Given the description of an element on the screen output the (x, y) to click on. 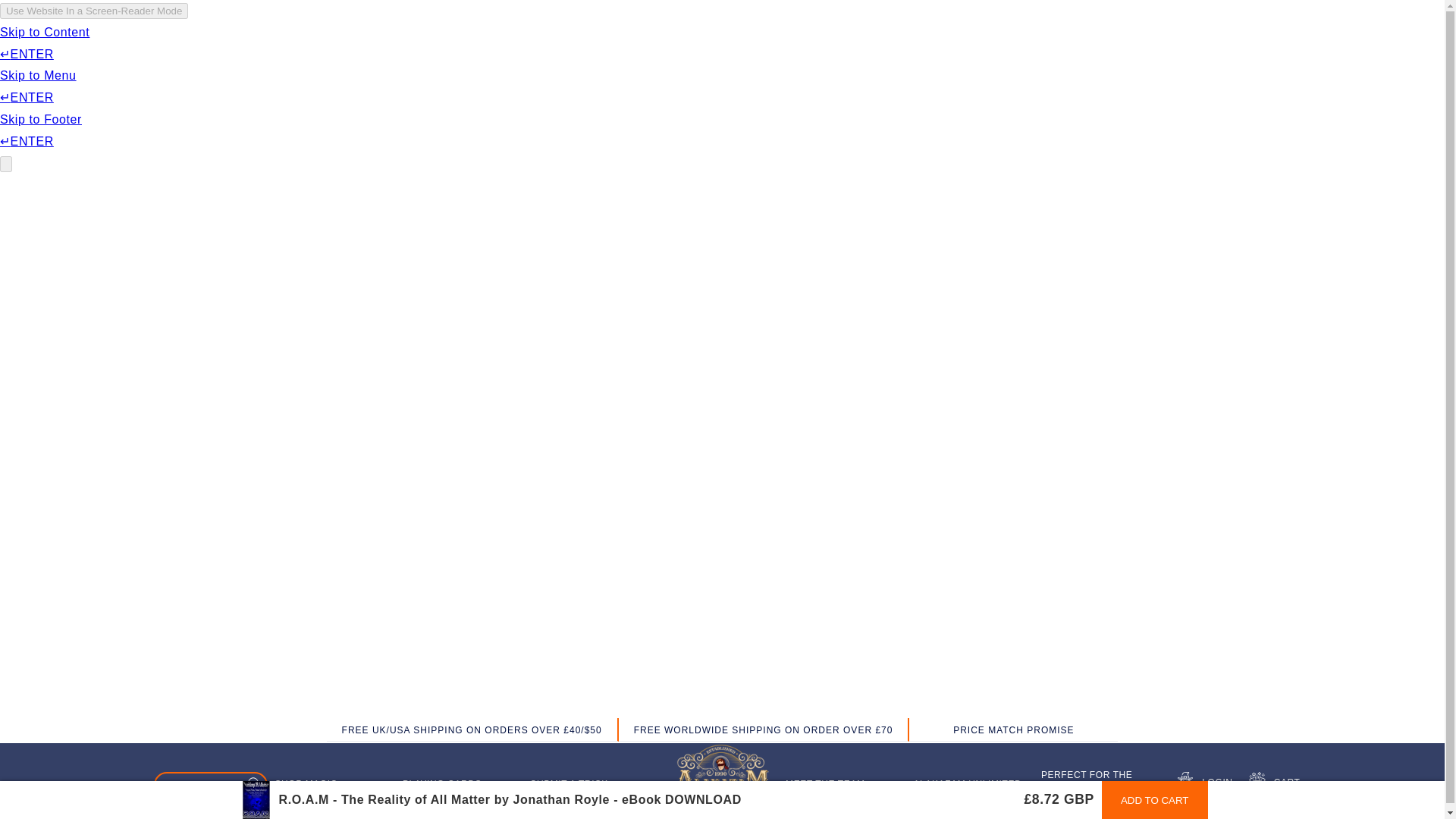
PRICE MATCH PROMISE (1013, 731)
Skip to content (45, 16)
